Given the description of an element on the screen output the (x, y) to click on. 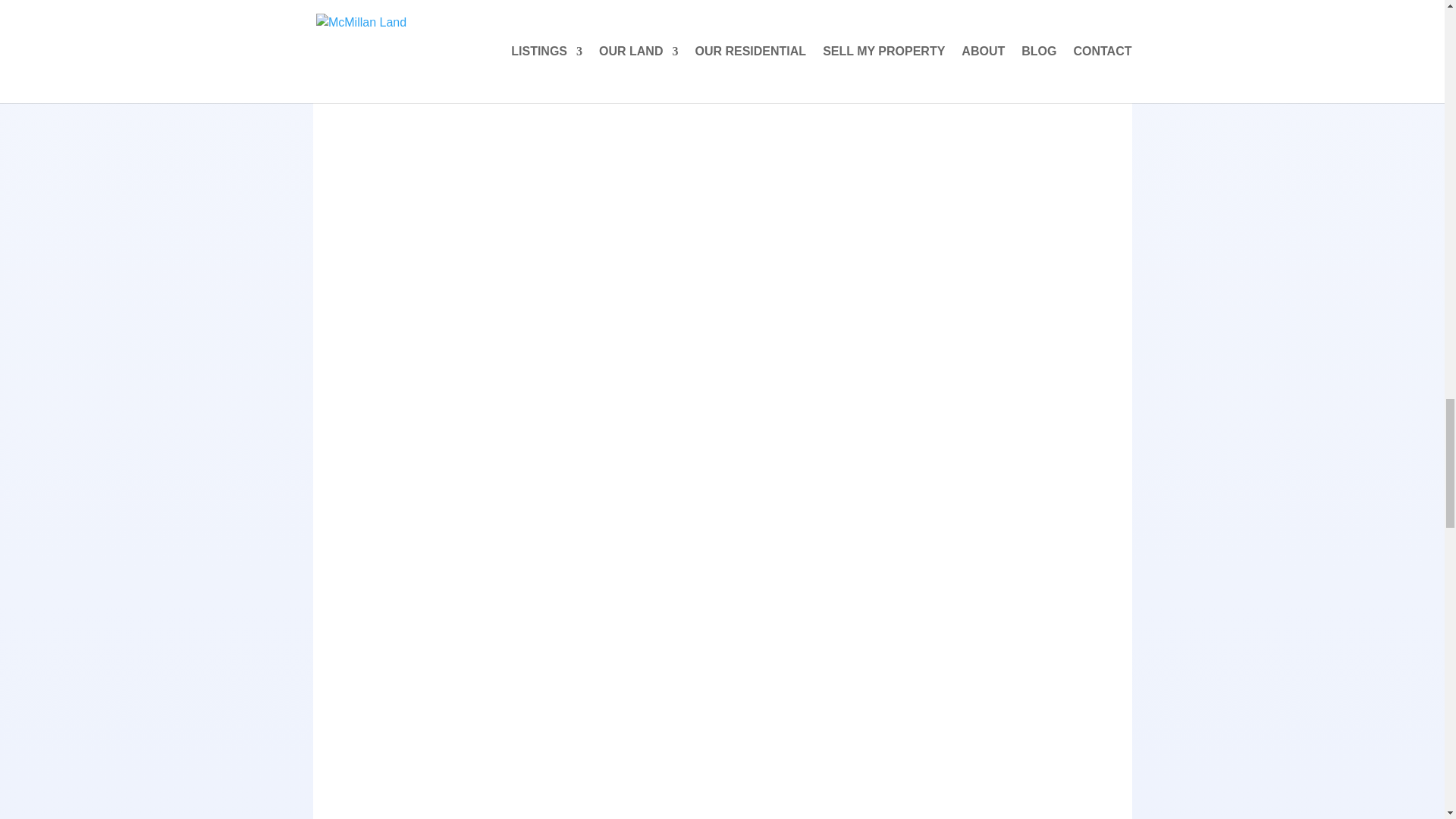
View (504, 35)
View (504, 35)
